Given the description of an element on the screen output the (x, y) to click on. 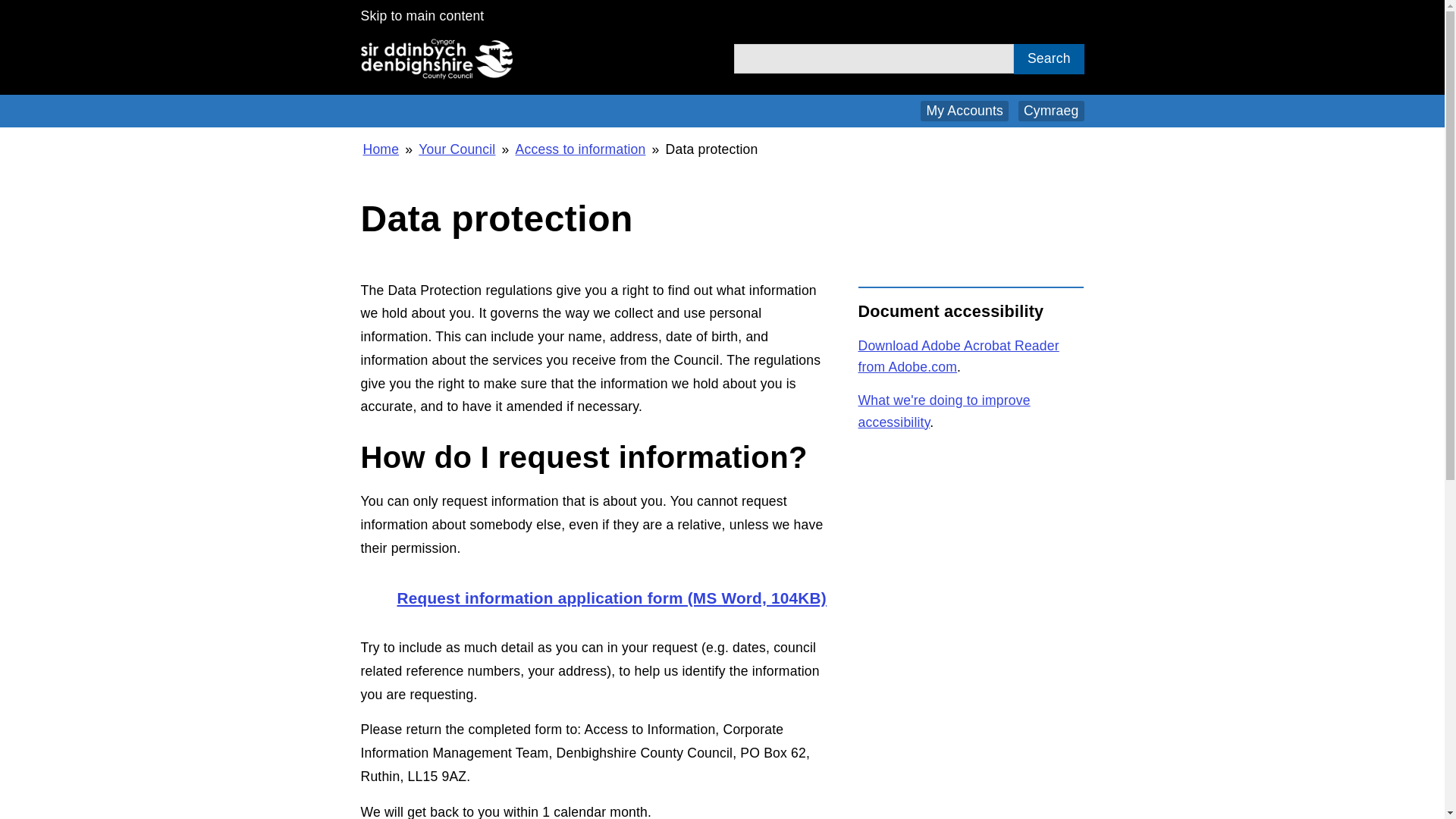
Request information application form (594, 598)
Skip to main content (422, 14)
Document accessibility (944, 410)
Go to Access to information from here (580, 149)
Your Council (457, 149)
My Accounts (964, 111)
Cymraeg (1050, 111)
Download Adobe Acrobat Reader from Adobe.com (959, 355)
Go to Home from here (380, 149)
Search (1048, 59)
